Given the description of an element on the screen output the (x, y) to click on. 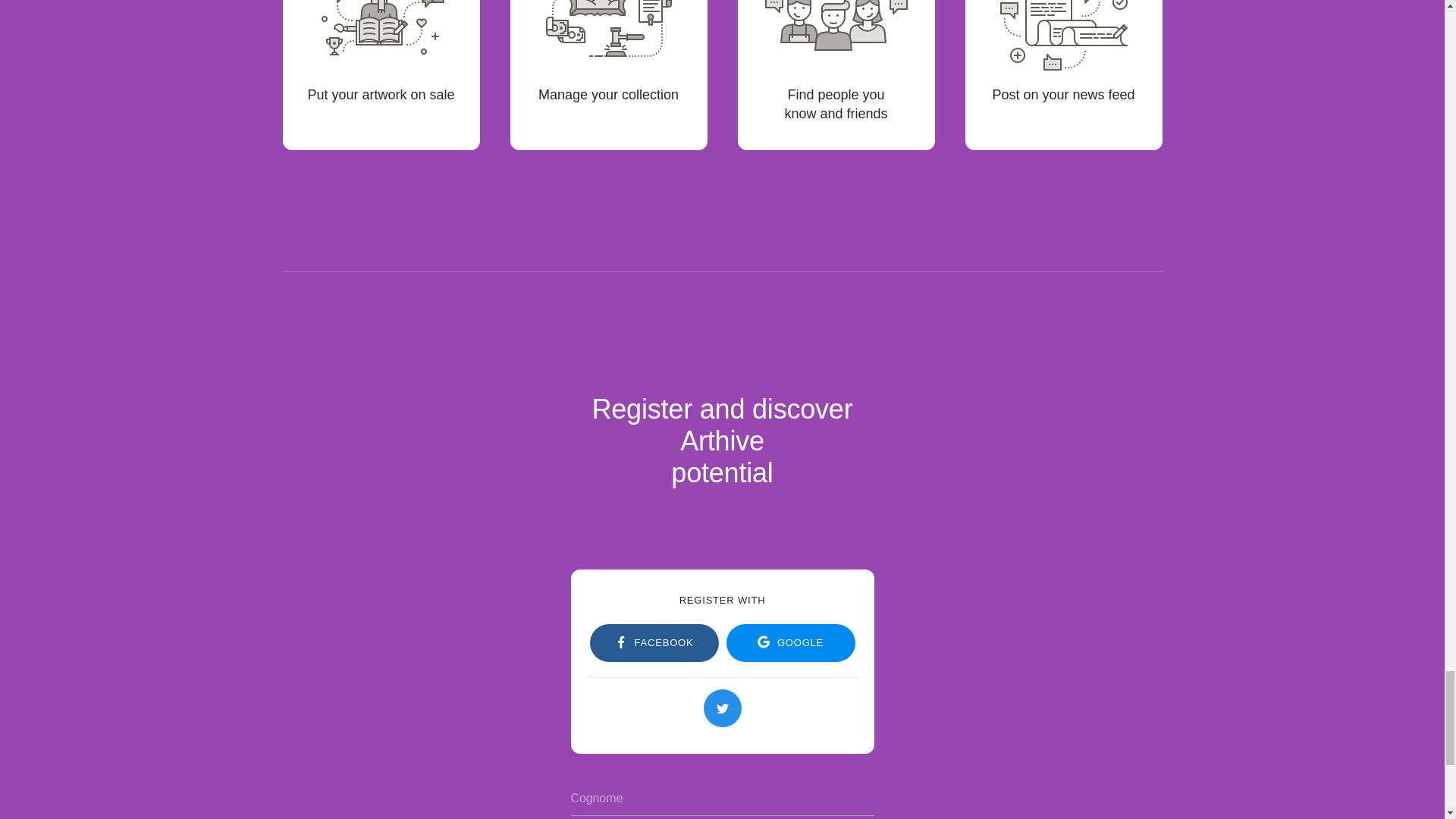
Manage your collection (607, 74)
Find people you know and friends (835, 74)
Post on your news feed (1062, 74)
Twitter (722, 708)
Facebook (654, 642)
GOOGLE (791, 642)
Google (791, 642)
FACEBOOK (654, 642)
Put your artwork on sale (380, 74)
